Given the description of an element on the screen output the (x, y) to click on. 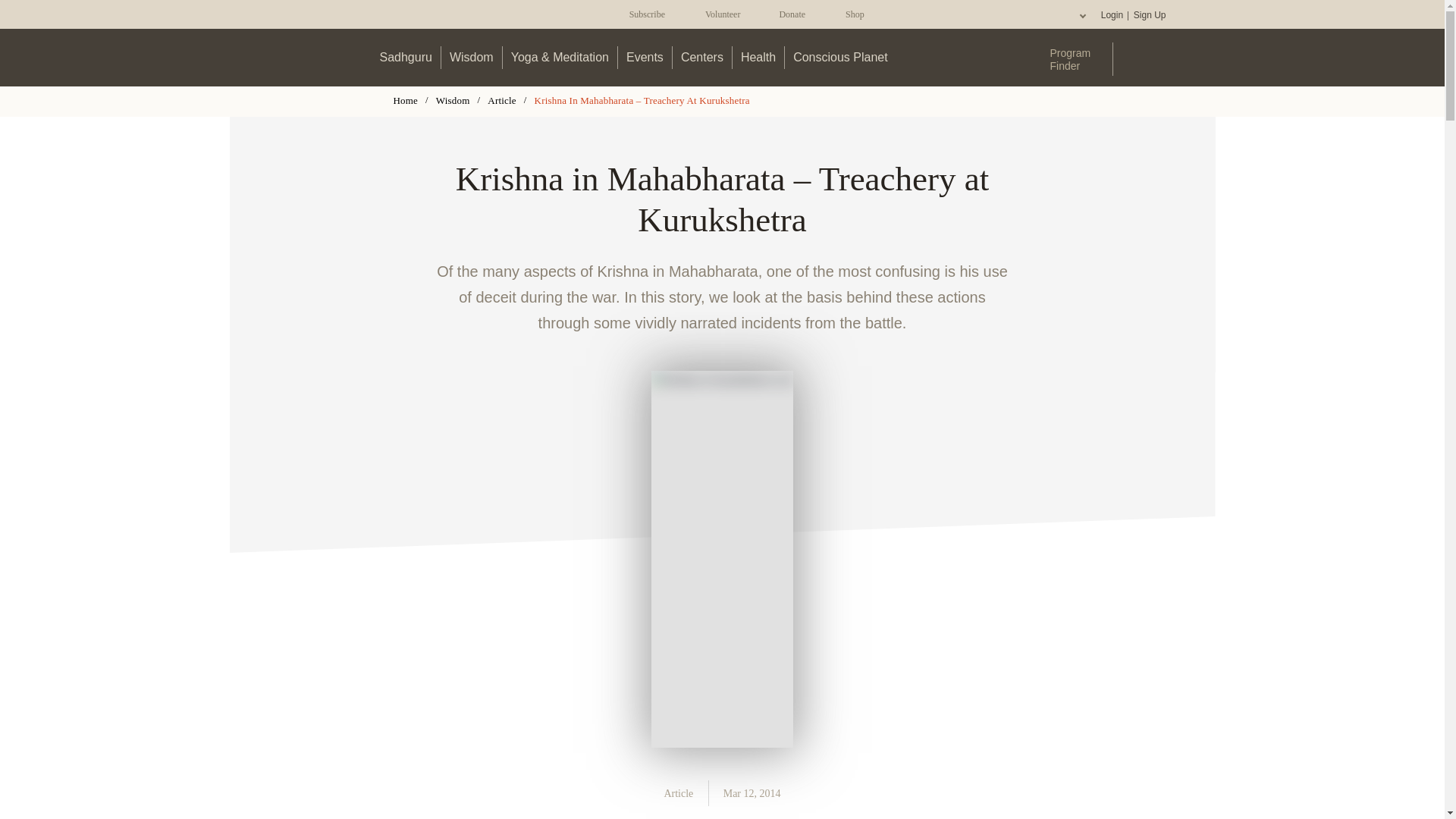
Sadhguru (406, 56)
Sign Up (1149, 15)
krishna in kurukshetra war (721, 559)
Login (1112, 15)
Wisdom (471, 56)
